Given the description of an element on the screen output the (x, y) to click on. 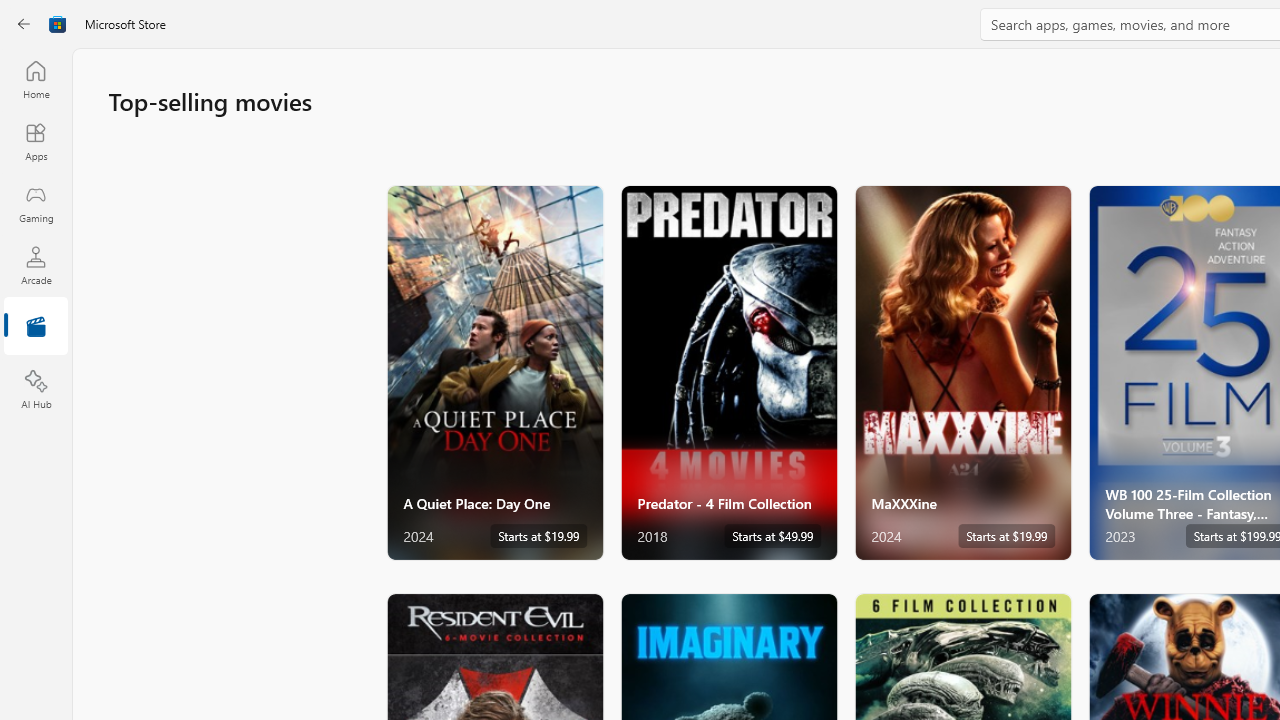
Entertainment (35, 327)
Arcade (35, 265)
Gaming (35, 203)
AI Hub (35, 390)
Back (24, 24)
Home (35, 79)
Class: Image (58, 24)
Apps (35, 141)
